Given the description of an element on the screen output the (x, y) to click on. 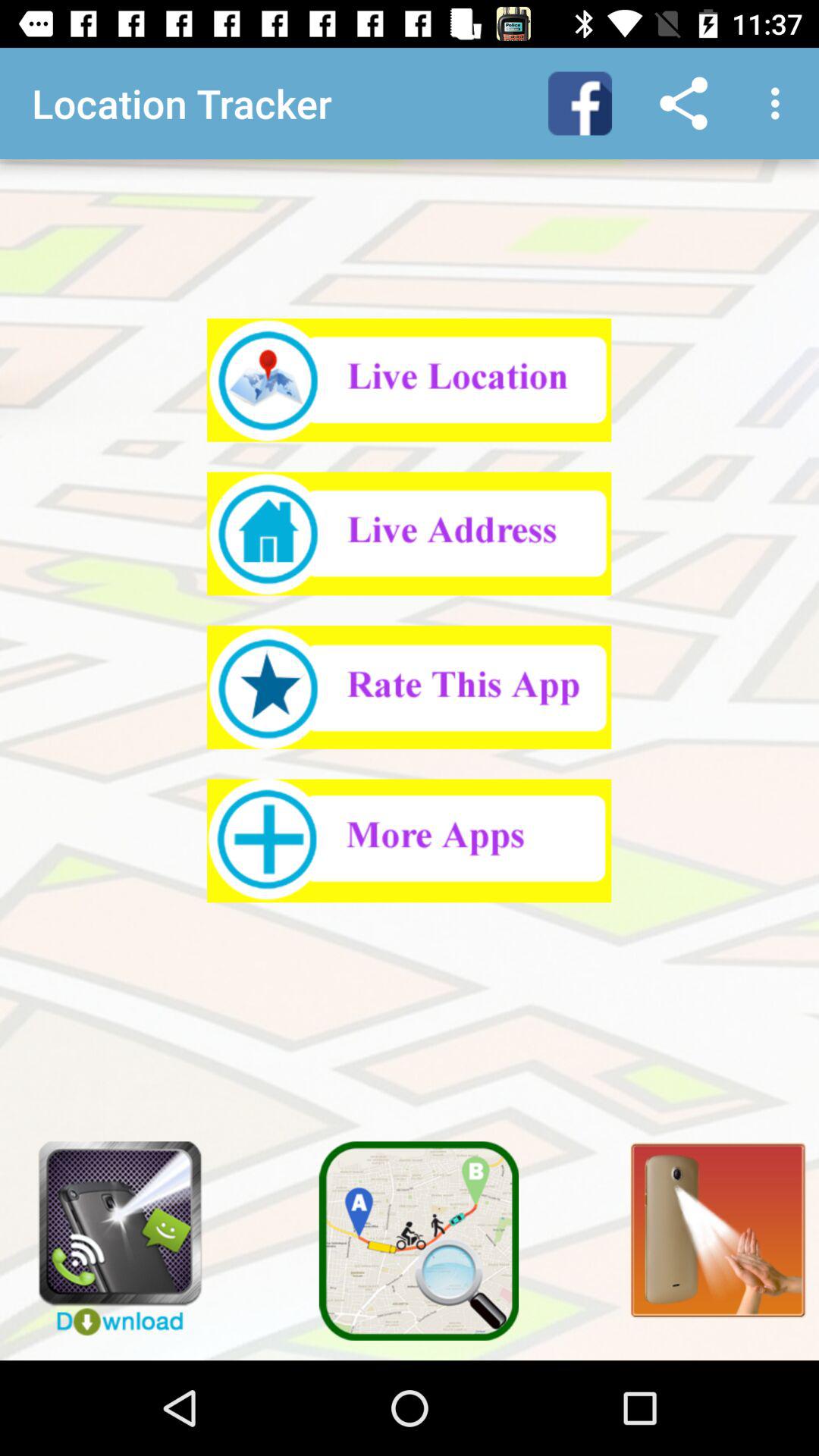
turn on flashlight (708, 1220)
